Given the description of an element on the screen output the (x, y) to click on. 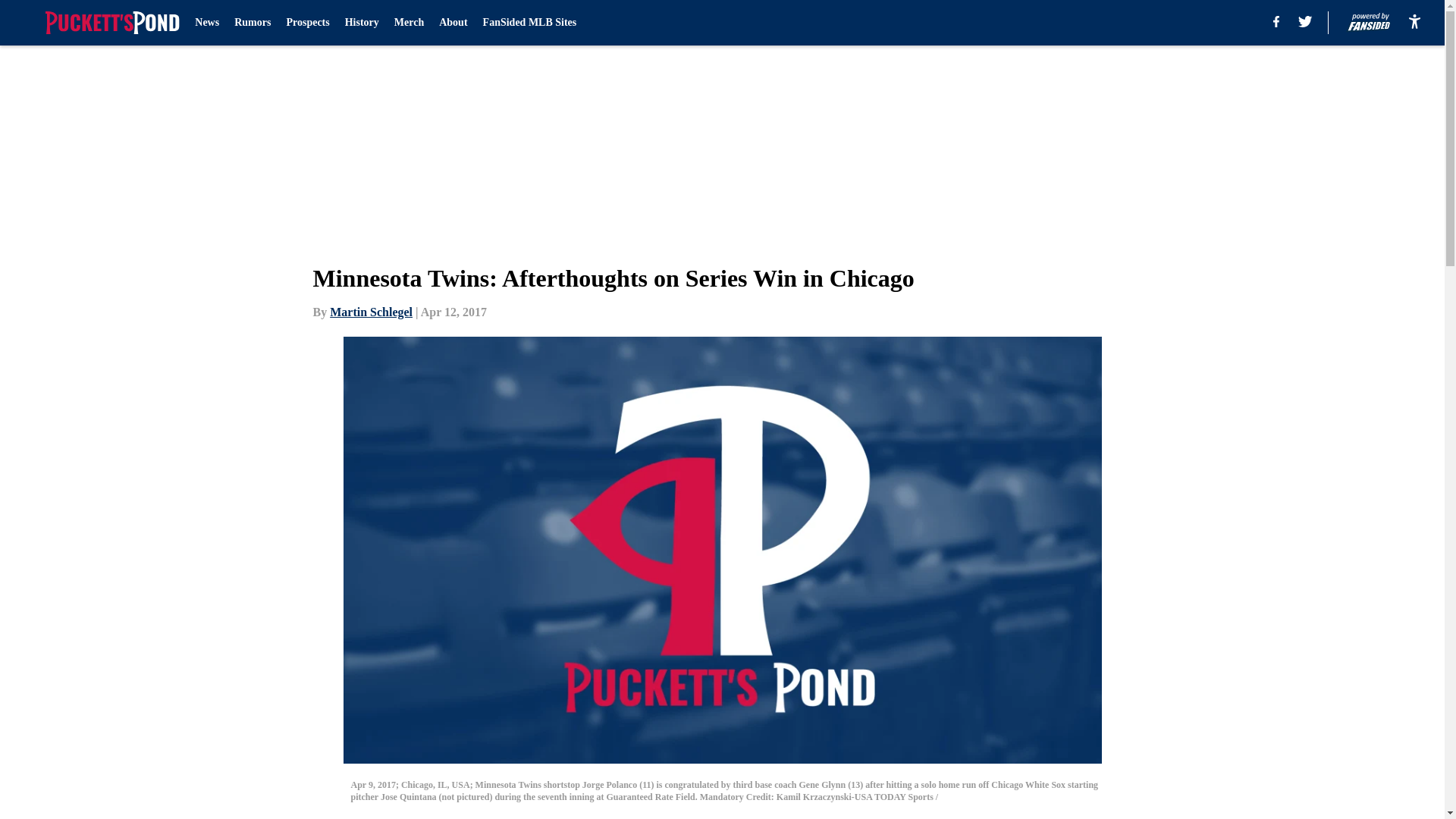
Merch (408, 22)
Martin Schlegel (371, 311)
FanSided MLB Sites (529, 22)
History (361, 22)
News (207, 22)
About (453, 22)
Rumors (252, 22)
Prospects (307, 22)
